Given the description of an element on the screen output the (x, y) to click on. 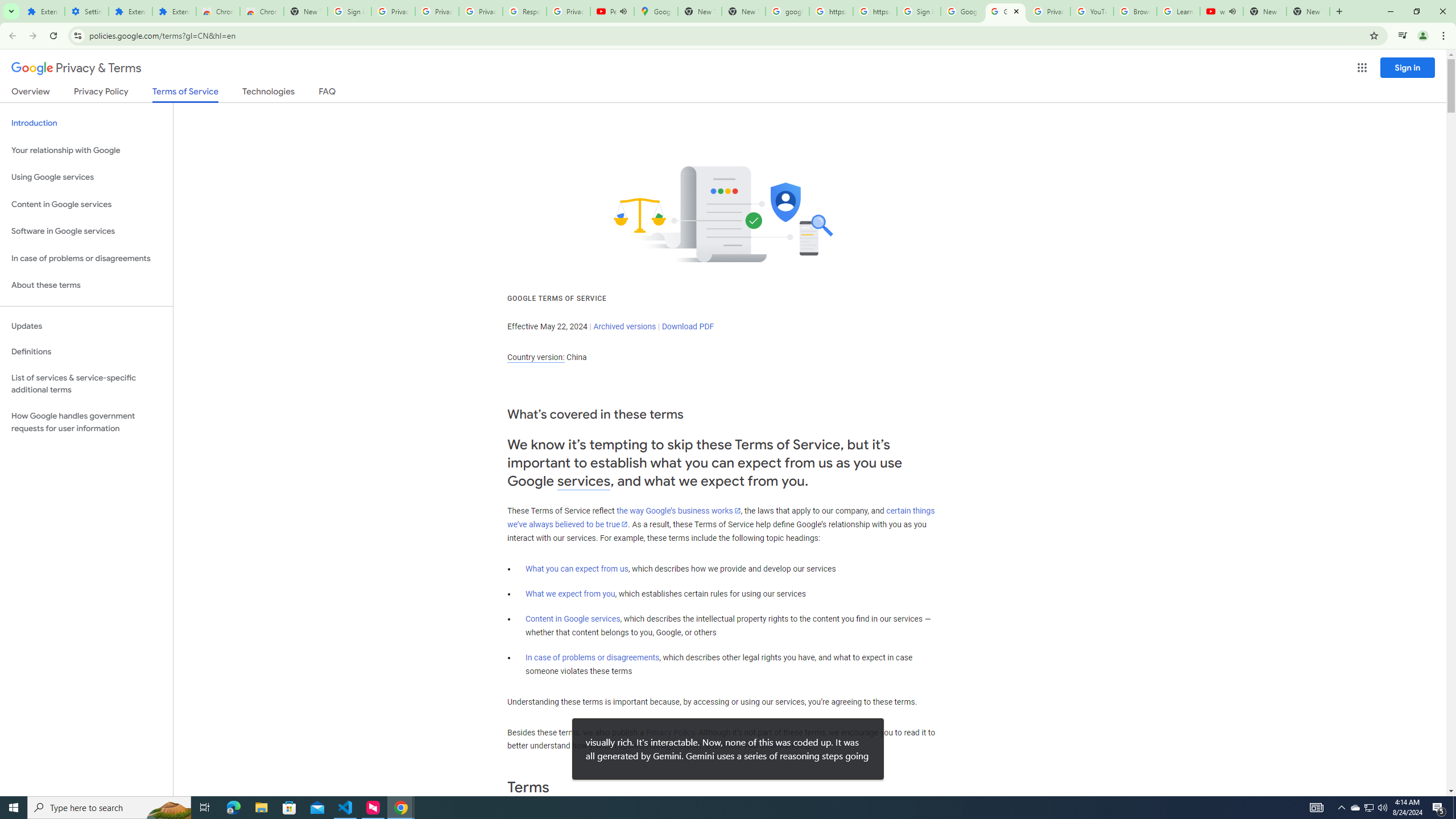
Google Maps (655, 11)
Chrome Web Store - Themes (261, 11)
New Tab (1308, 11)
https://scholar.google.com/ (830, 11)
Extensions (42, 11)
services (583, 480)
